Given the description of an element on the screen output the (x, y) to click on. 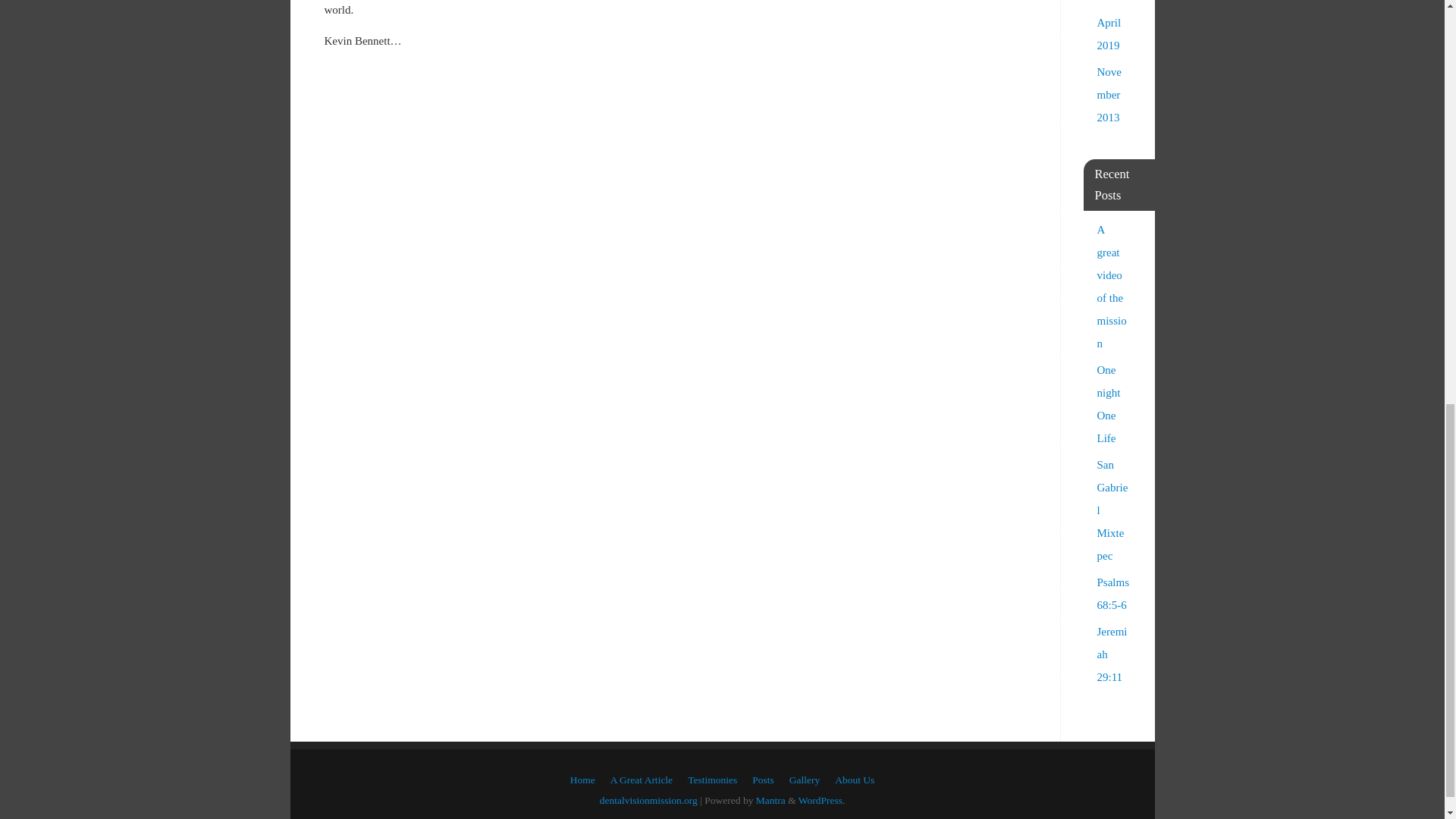
Posts (763, 779)
dentalvisionmission.org (648, 799)
Mantra (770, 799)
Psalms 68:5-6 (1112, 593)
dentalvisionmission.org (648, 799)
Semantic Personal Publishing Platform (821, 799)
February 2020 (1112, 1)
Mantra Theme by Cryout Creations (770, 799)
Gallery (804, 779)
Testimonies (711, 779)
